Given the description of an element on the screen output the (x, y) to click on. 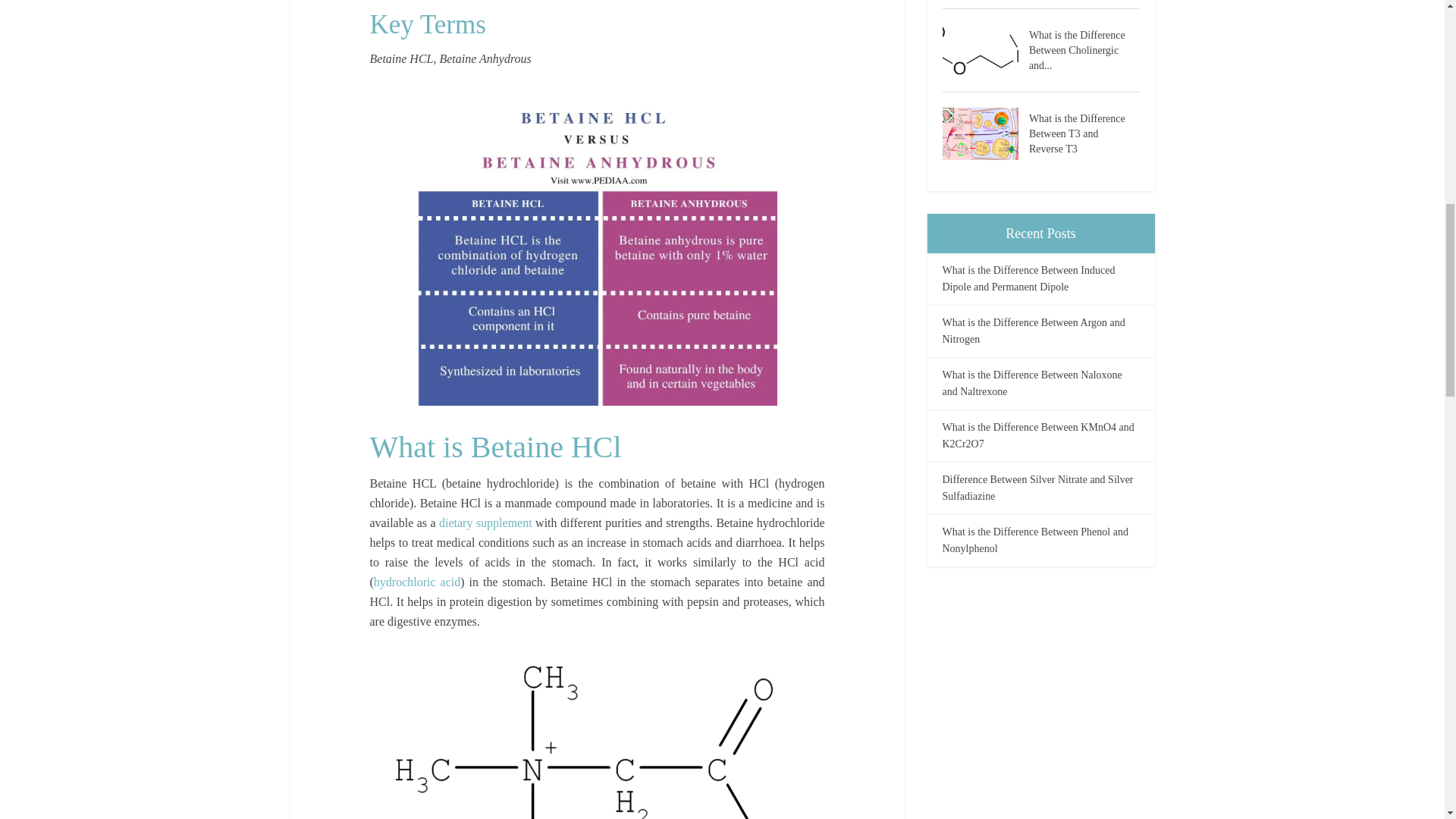
hydrochloric acid (417, 581)
What is the Difference Between T3 and Reverse T3 (984, 133)
pinit (596, 248)
dietary supplement (485, 522)
